Given the description of an element on the screen output the (x, y) to click on. 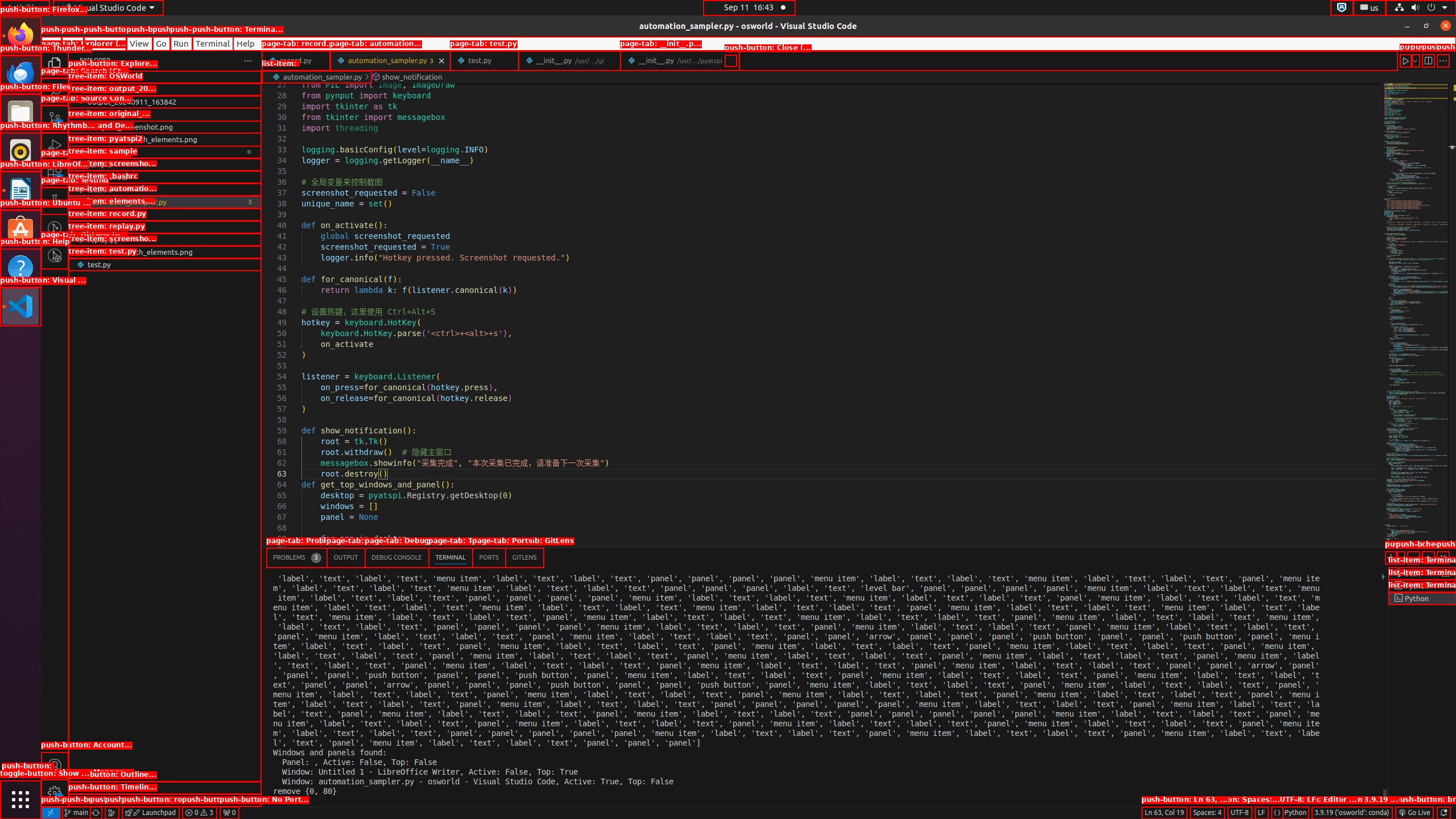
Selection Element type: push-button (104, 43)
Extensions (Ctrl+Shift+X) - 2 require update Element type: page-tab (54, 173)
broadcast Go Live, Click to run live server Element type: push-button (1414, 812)
rocket gitlens-unplug Launchpad, GitLens Launchpad ᴘʀᴇᴠɪᴇᴡ    &mdash;    [$(question)](command:gitlens.launchpad.indicator.action?%22info%22 "What is this?") [$(gear)](command:workbench.action.openSettings?%22gitlens.launchpad%22 "Settings")  |  [$(circle-slash) Hide](command:gitlens.launchpad.indicator.action?%22hide%22 "Hide") --- [Launchpad](command:gitlens.launchpad.indicator.action?%info%22 "Learn about Launchpad") organizes your pull requests into actionable groups to help you focus and keep your team unblocked. It's always accessible using the `GitLens: Open Launchpad` command from the Command Palette. --- [Connect an integration](command:gitlens.showLaunchpad?%7B%22source%22%3A%22launchpad-indicator%22%7D "Connect an integration") to get started. Element type: push-button (150, 812)
